Given the description of an element on the screen output the (x, y) to click on. 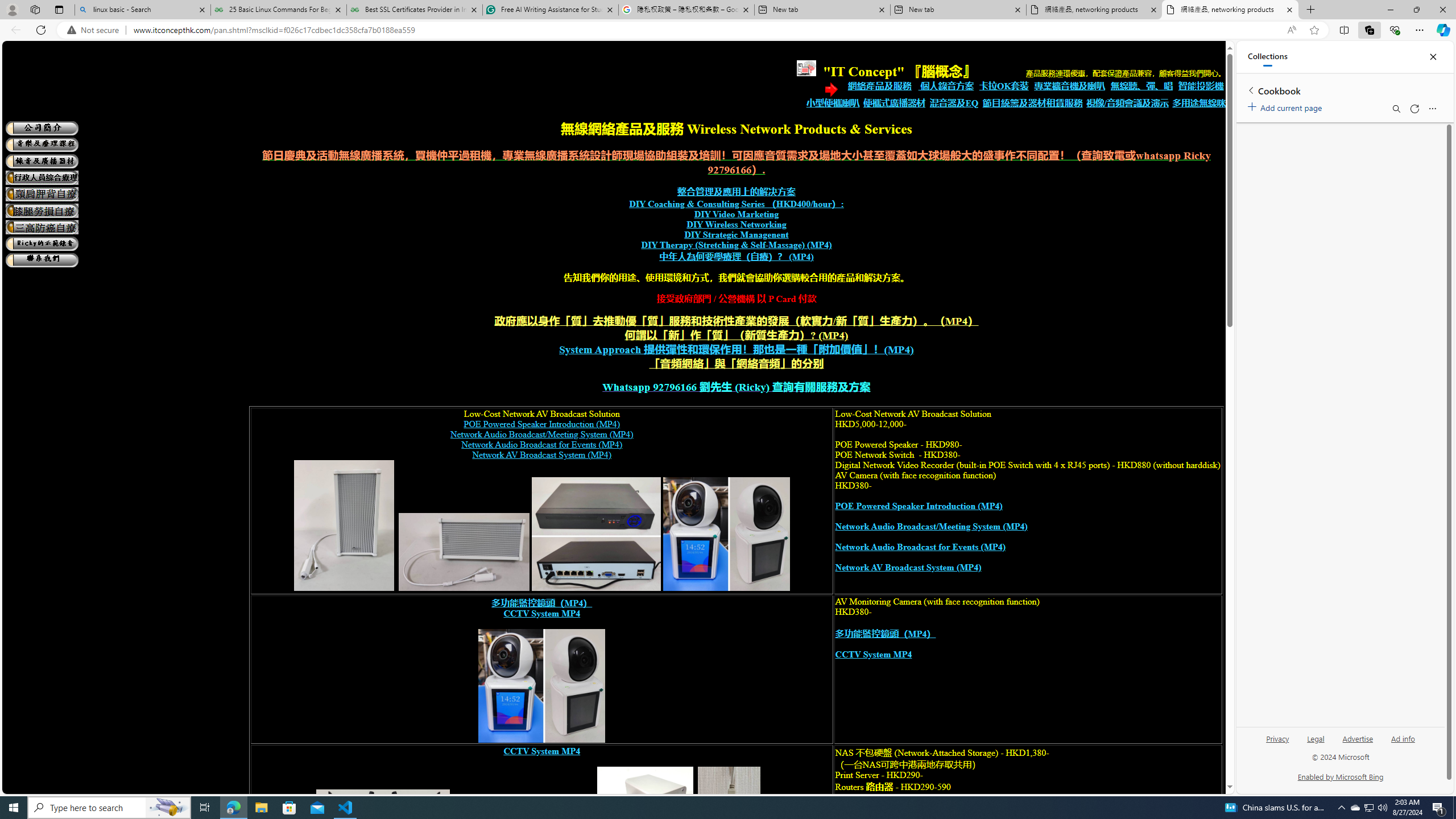
POE switch, digital network video recorder, (596, 534)
CCTV System MP4 (541, 751)
Network Audio Broadcast for Events (MP4)  (920, 547)
